Given the description of an element on the screen output the (x, y) to click on. 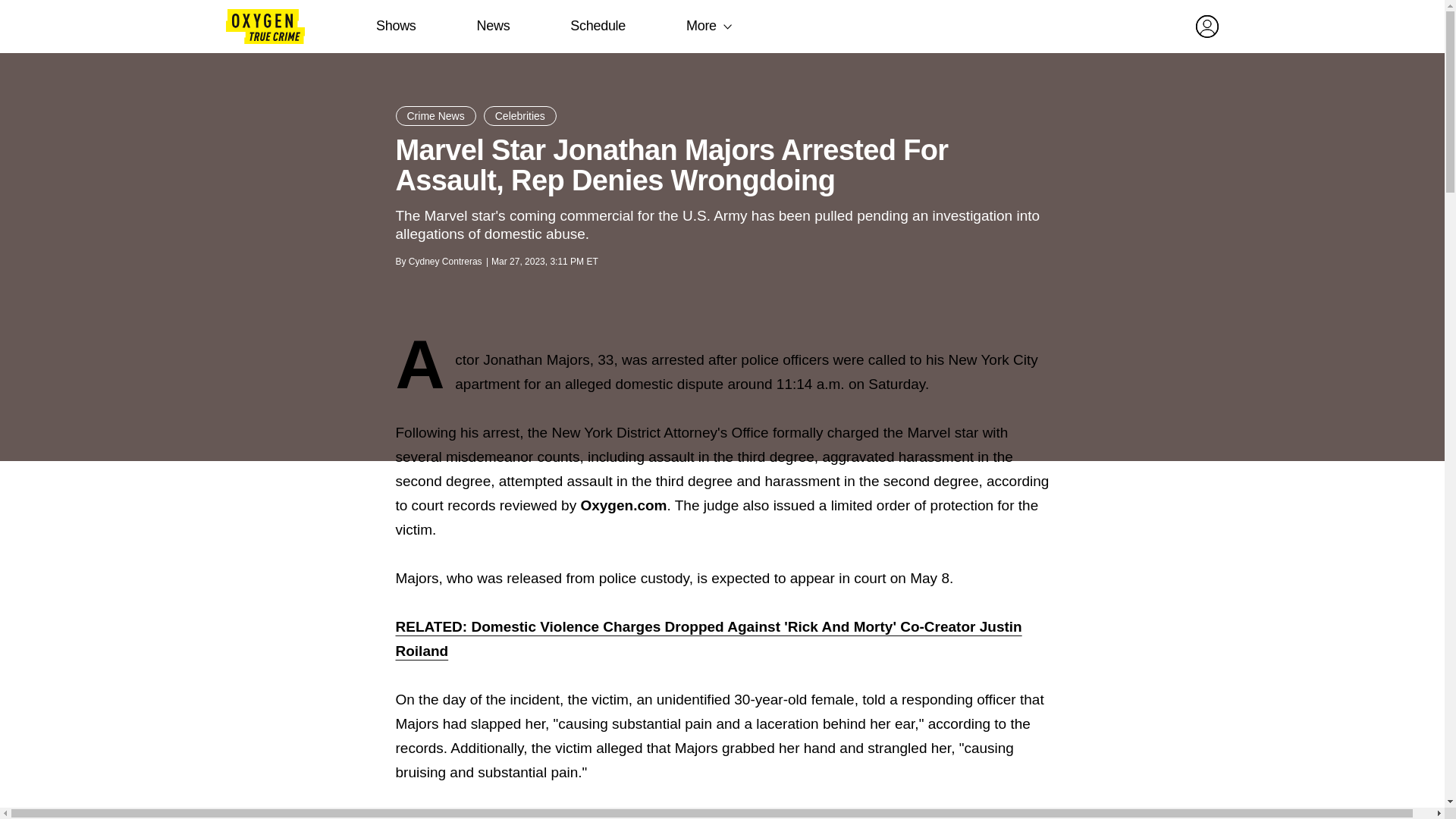
Shows (395, 26)
Schedule (598, 26)
More (700, 26)
Crime News (436, 116)
News (492, 26)
Cydney Contreras (445, 261)
Celebrities (519, 116)
